Given the description of an element on the screen output the (x, y) to click on. 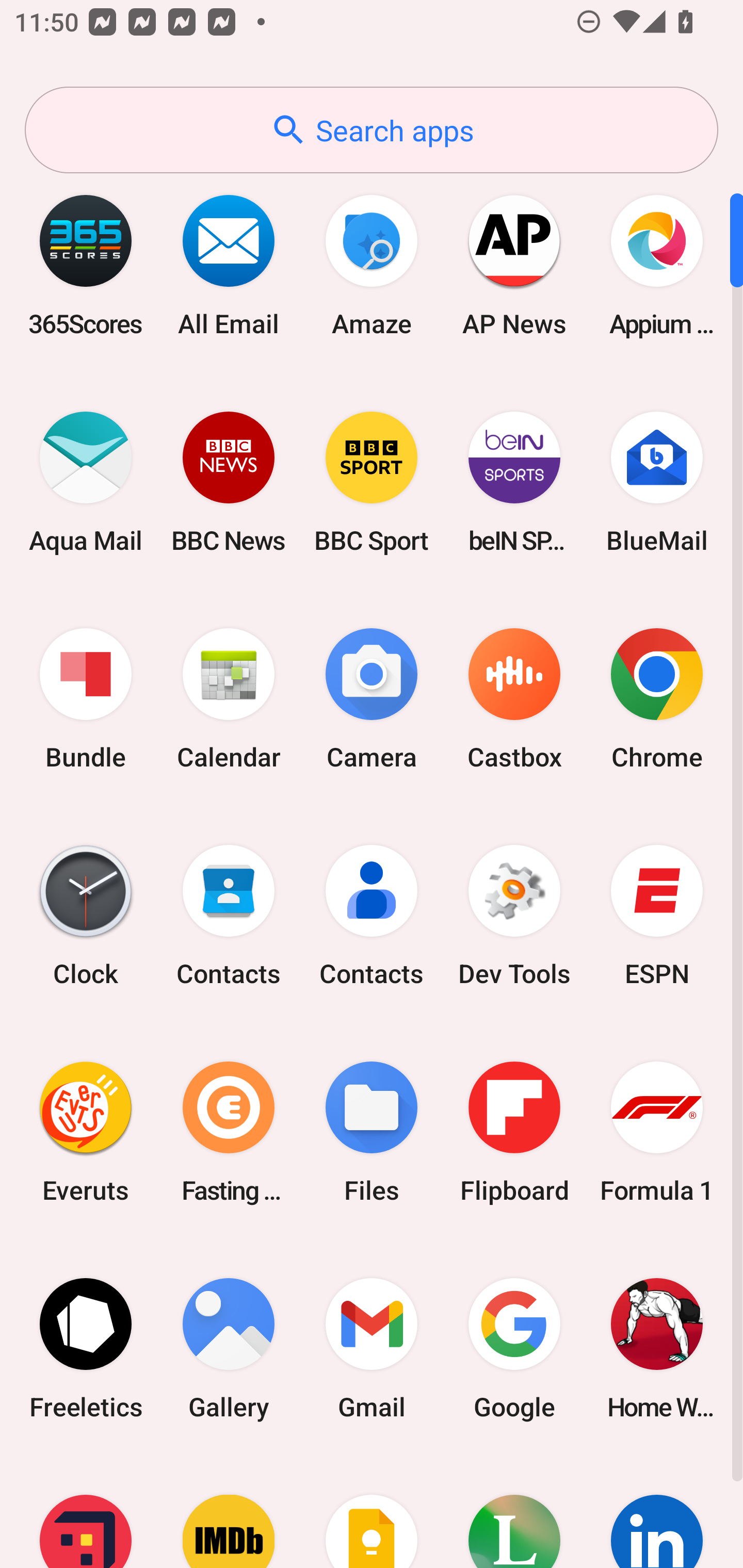
  Search apps (371, 130)
365Scores (85, 264)
All Email (228, 264)
Amaze (371, 264)
AP News (514, 264)
Appium Settings (656, 264)
Aqua Mail (85, 482)
BBC News (228, 482)
BBC Sport (371, 482)
beIN SPORTS (514, 482)
BlueMail (656, 482)
Bundle (85, 699)
Calendar (228, 699)
Camera (371, 699)
Castbox (514, 699)
Chrome (656, 699)
Clock (85, 915)
Contacts (228, 915)
Contacts (371, 915)
Dev Tools (514, 915)
ESPN (656, 915)
Everuts (85, 1131)
Fasting Coach (228, 1131)
Files (371, 1131)
Flipboard (514, 1131)
Formula 1 (656, 1131)
Freeletics (85, 1348)
Gallery (228, 1348)
Gmail (371, 1348)
Google (514, 1348)
Home Workout (656, 1348)
Hotels.com (85, 1512)
IMDb (228, 1512)
Keep Notes (371, 1512)
Lifesum (514, 1512)
LinkedIn (656, 1512)
